Given the description of an element on the screen output the (x, y) to click on. 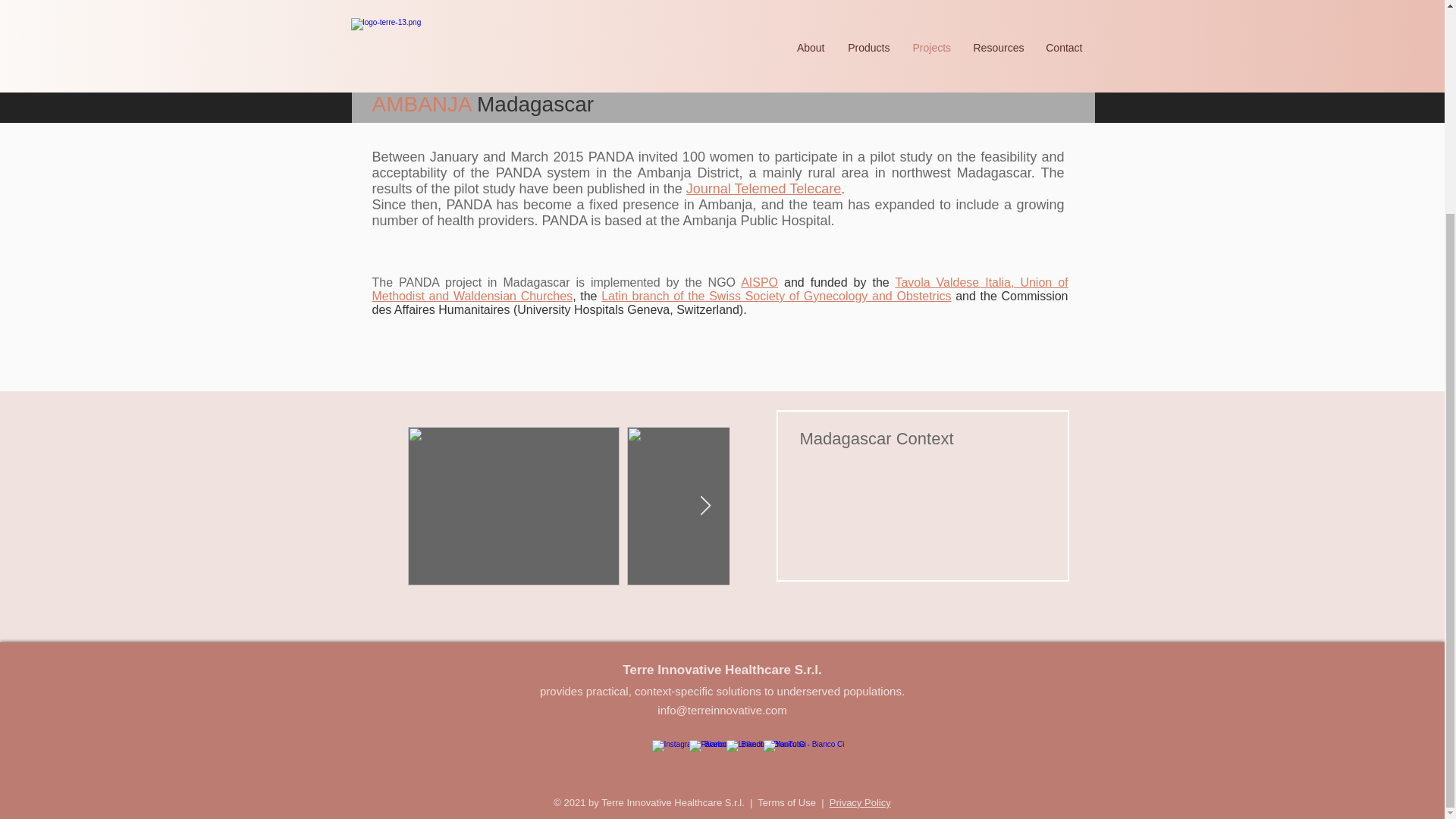
Privacy Policy (860, 802)
Terms of Use (786, 802)
Journal Telemed Telecare (763, 188)
AISPO (759, 282)
